Given the description of an element on the screen output the (x, y) to click on. 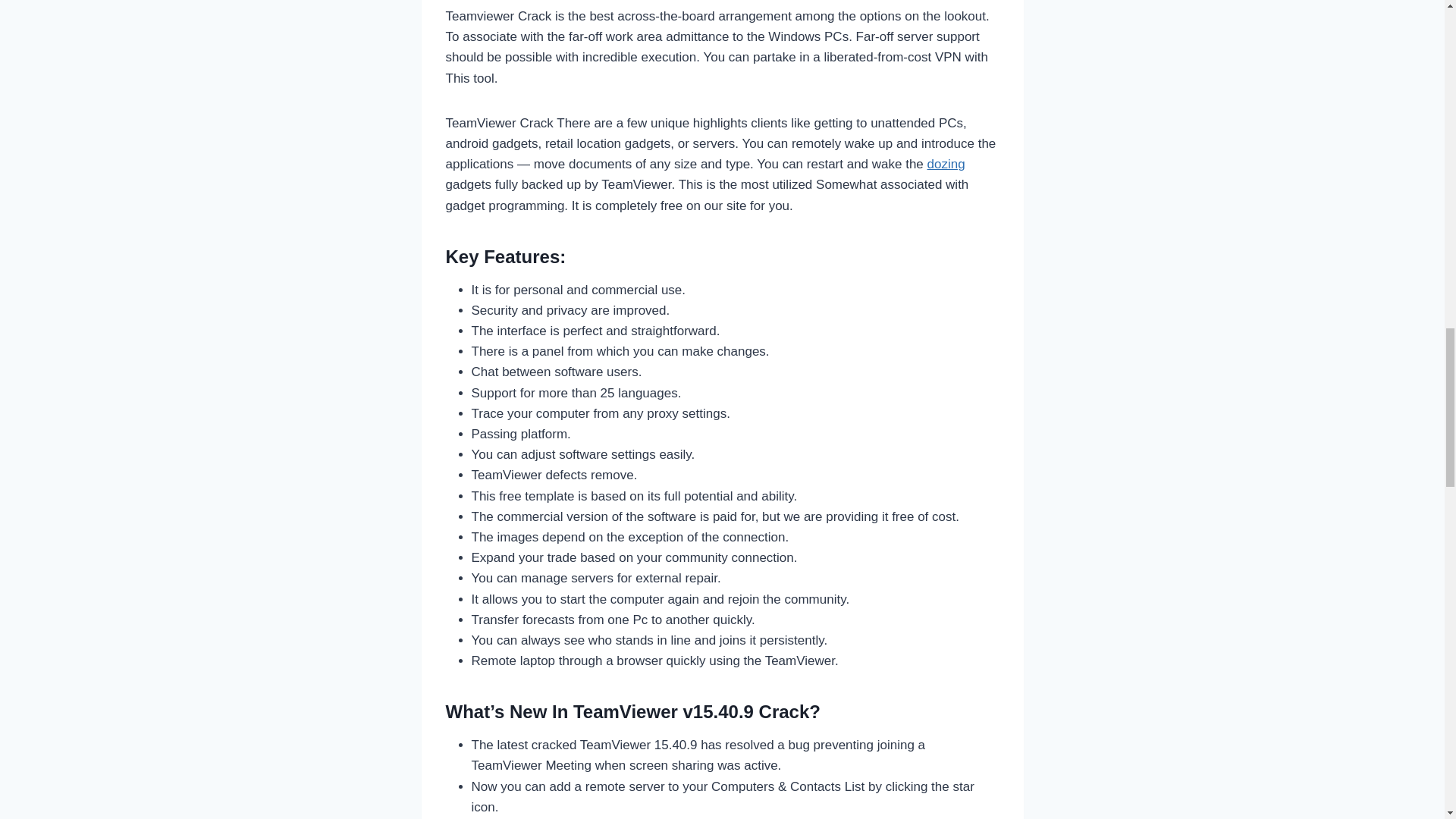
dozing (946, 164)
